Given the description of an element on the screen output the (x, y) to click on. 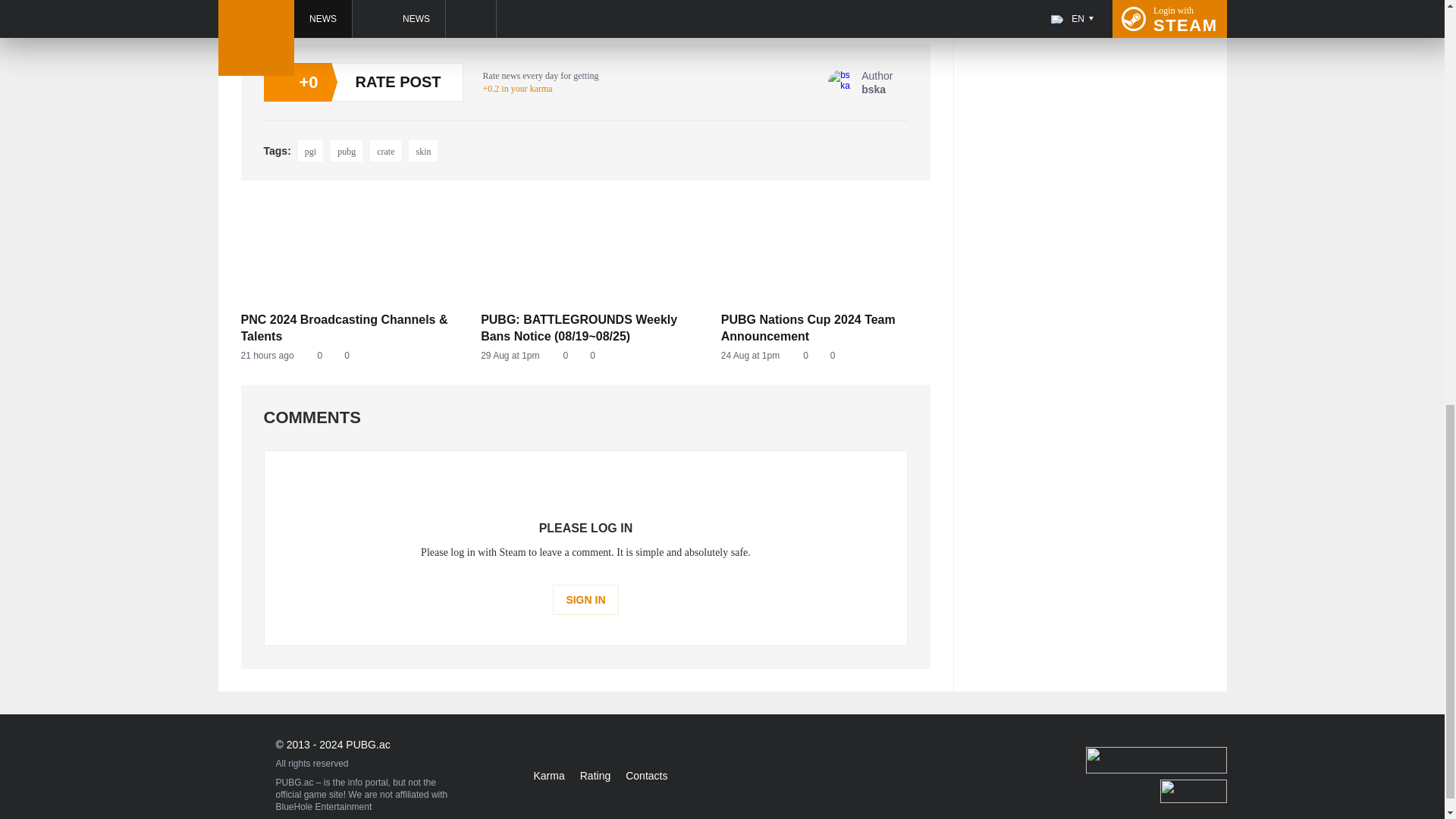
skin (423, 150)
SIGN IN (825, 355)
crate (585, 599)
this website. (385, 150)
pgi (661, 6)
pubg (585, 355)
